Given the description of an element on the screen output the (x, y) to click on. 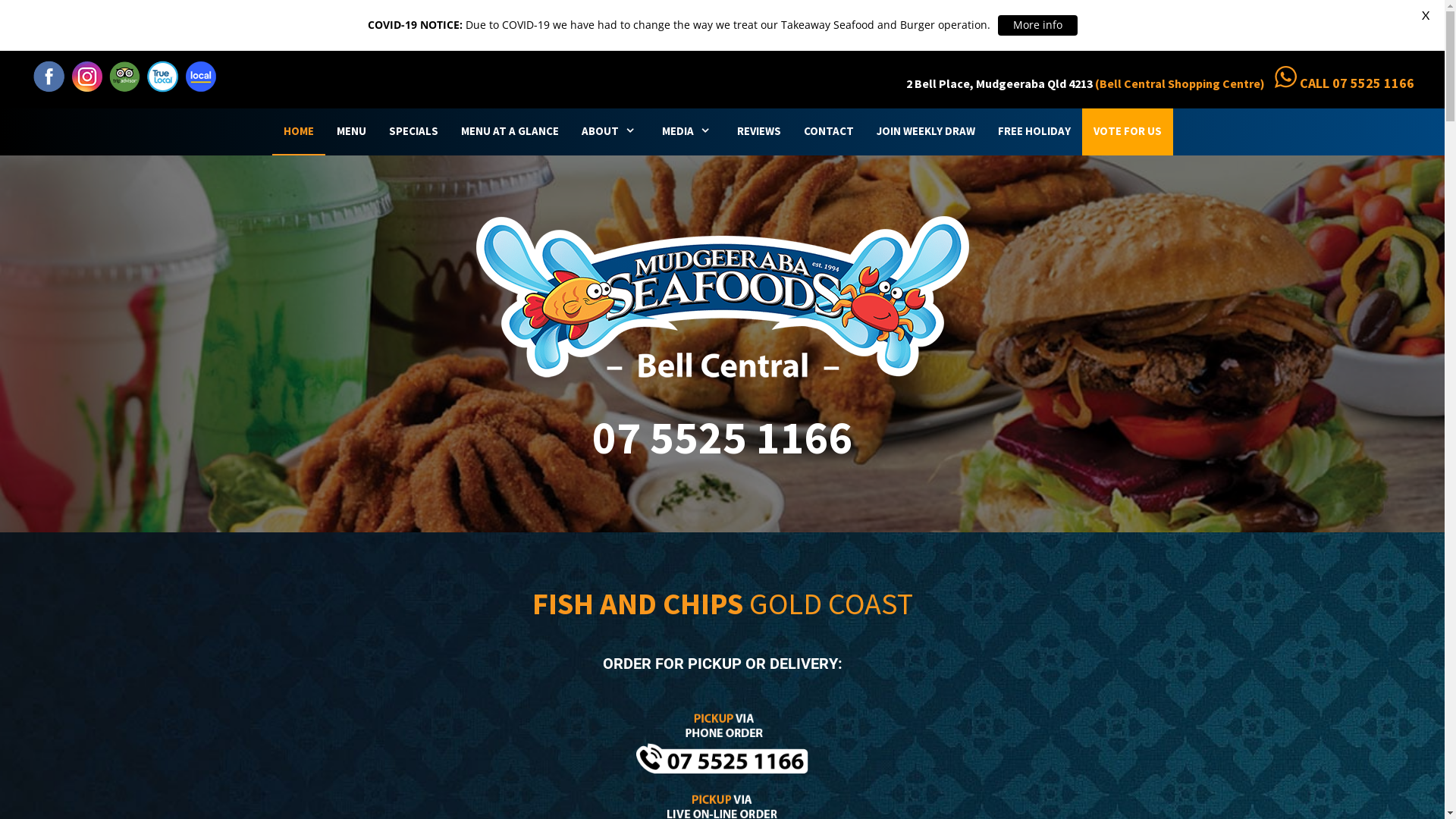
MEDIA Element type: text (687, 131)
CONTACT Element type: text (827, 131)
X Element type: text (1425, 14)
VOTE FOR US Element type: text (1126, 131)
CALL 07 5525 1166 Element type: text (1356, 82)
SPECIALS Element type: text (413, 131)
HOME Element type: text (297, 131)
ABOUT Element type: text (610, 131)
MENU AT A GLANCE Element type: text (508, 131)
FREE HOLIDAY Element type: text (1033, 131)
JOIN WEEKLY DRAW Element type: text (924, 131)
More info Element type: text (1037, 25)
MENU Element type: text (350, 131)
REVIEWS Element type: text (757, 131)
